Given the description of an element on the screen output the (x, y) to click on. 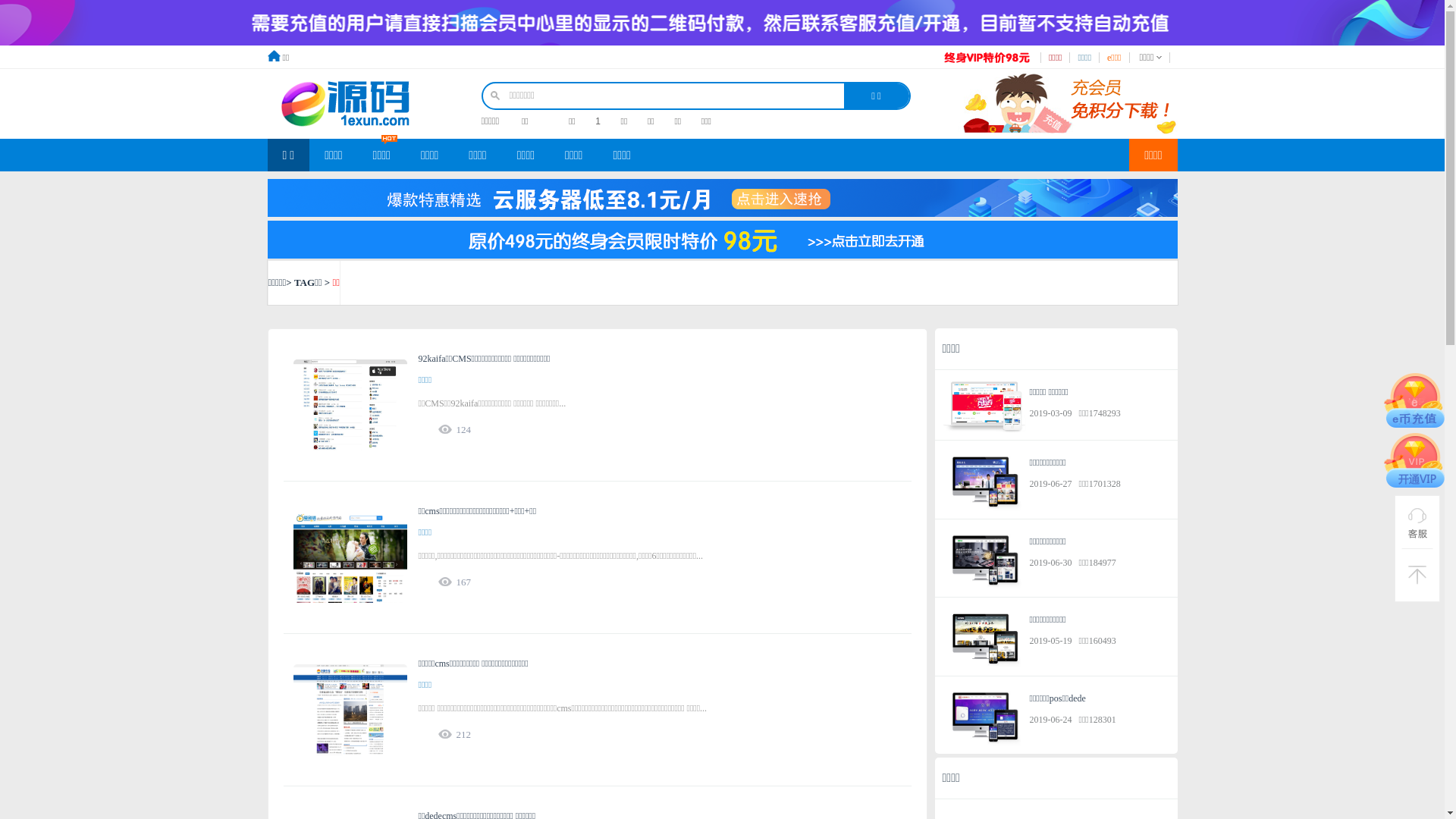
1 Element type: text (597, 121)
